Given the description of an element on the screen output the (x, y) to click on. 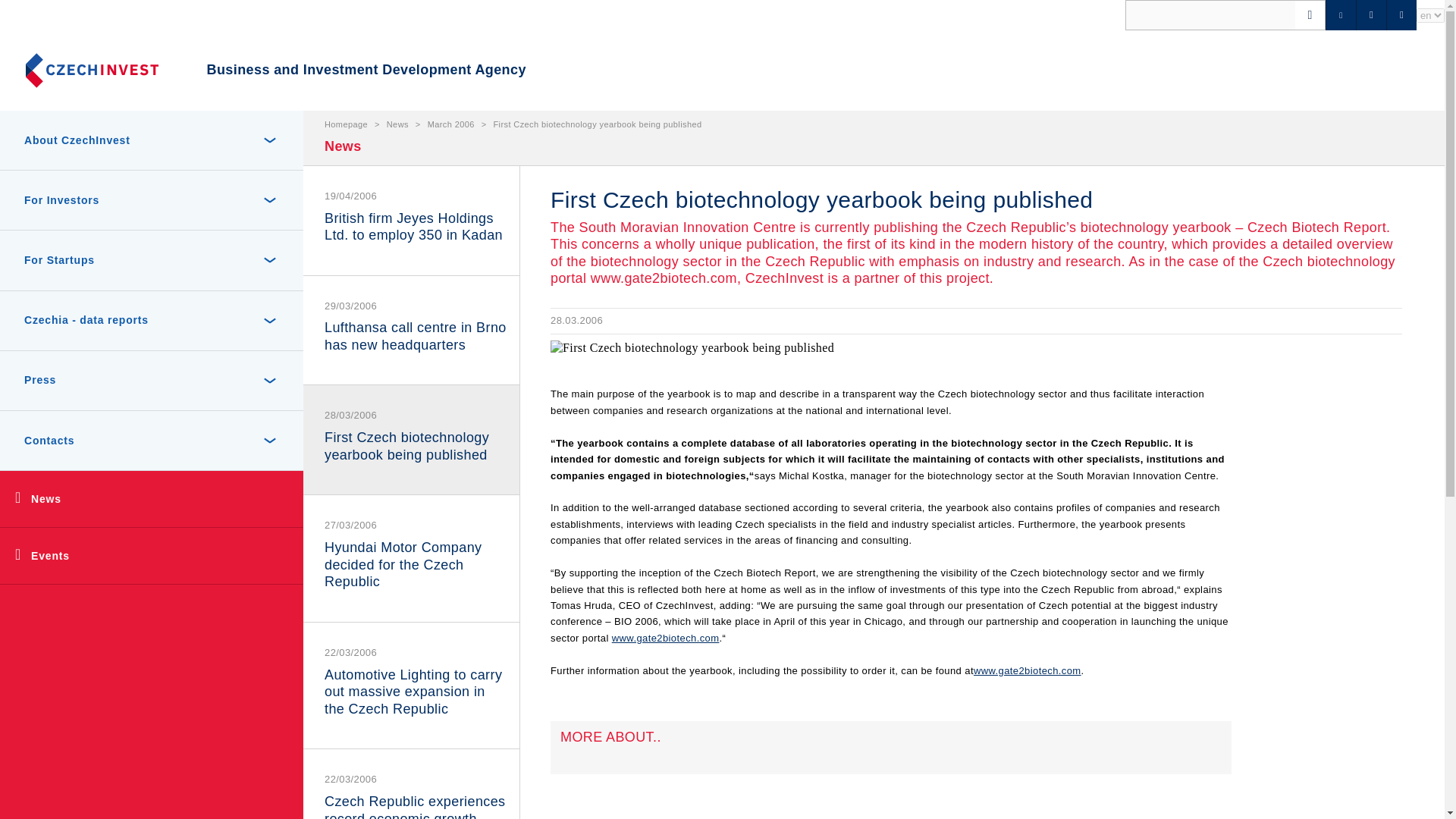
Search (39, 18)
